Given the description of an element on the screen output the (x, y) to click on. 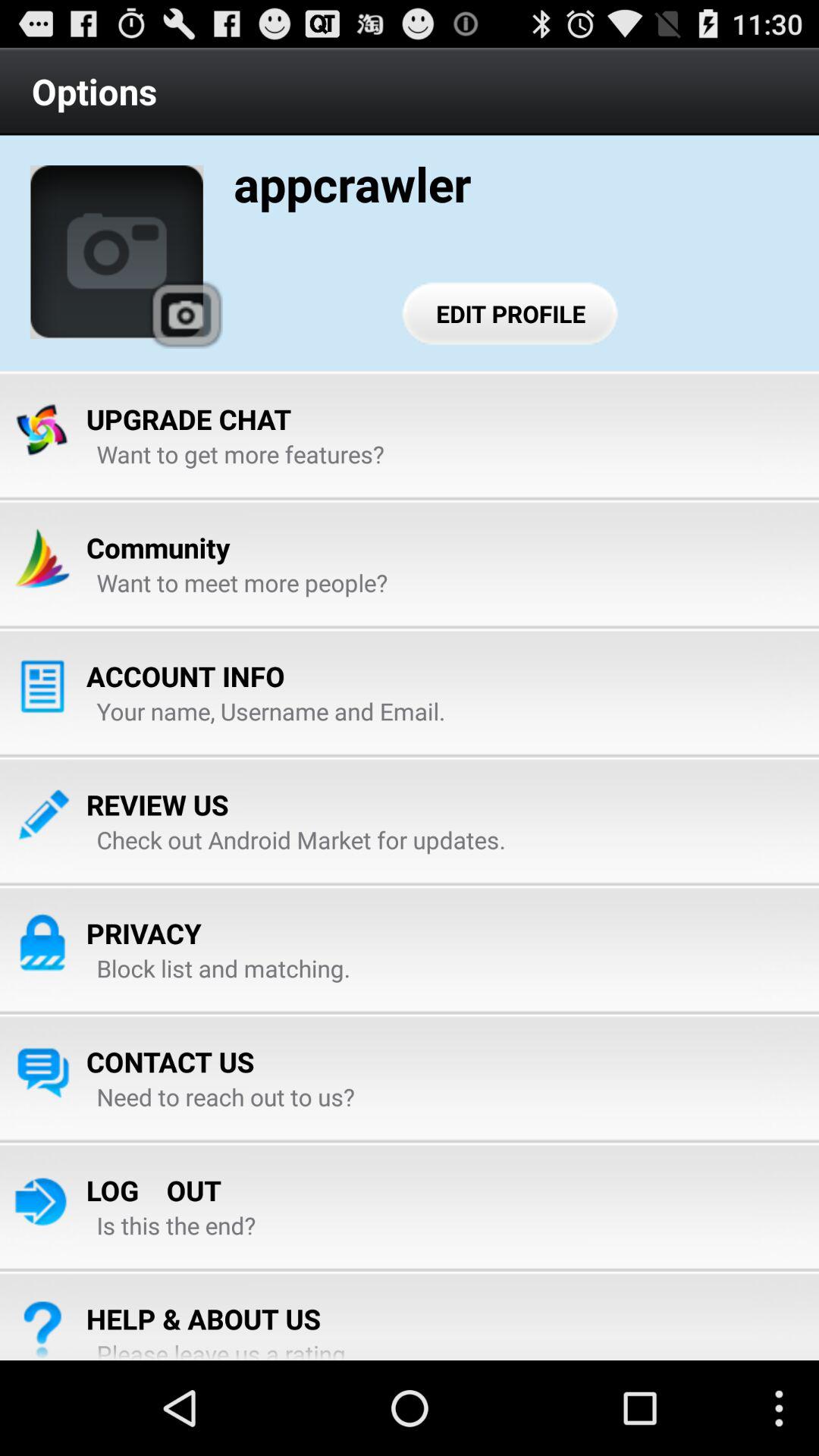
click the upgrade chat item (188, 418)
